Given the description of an element on the screen output the (x, y) to click on. 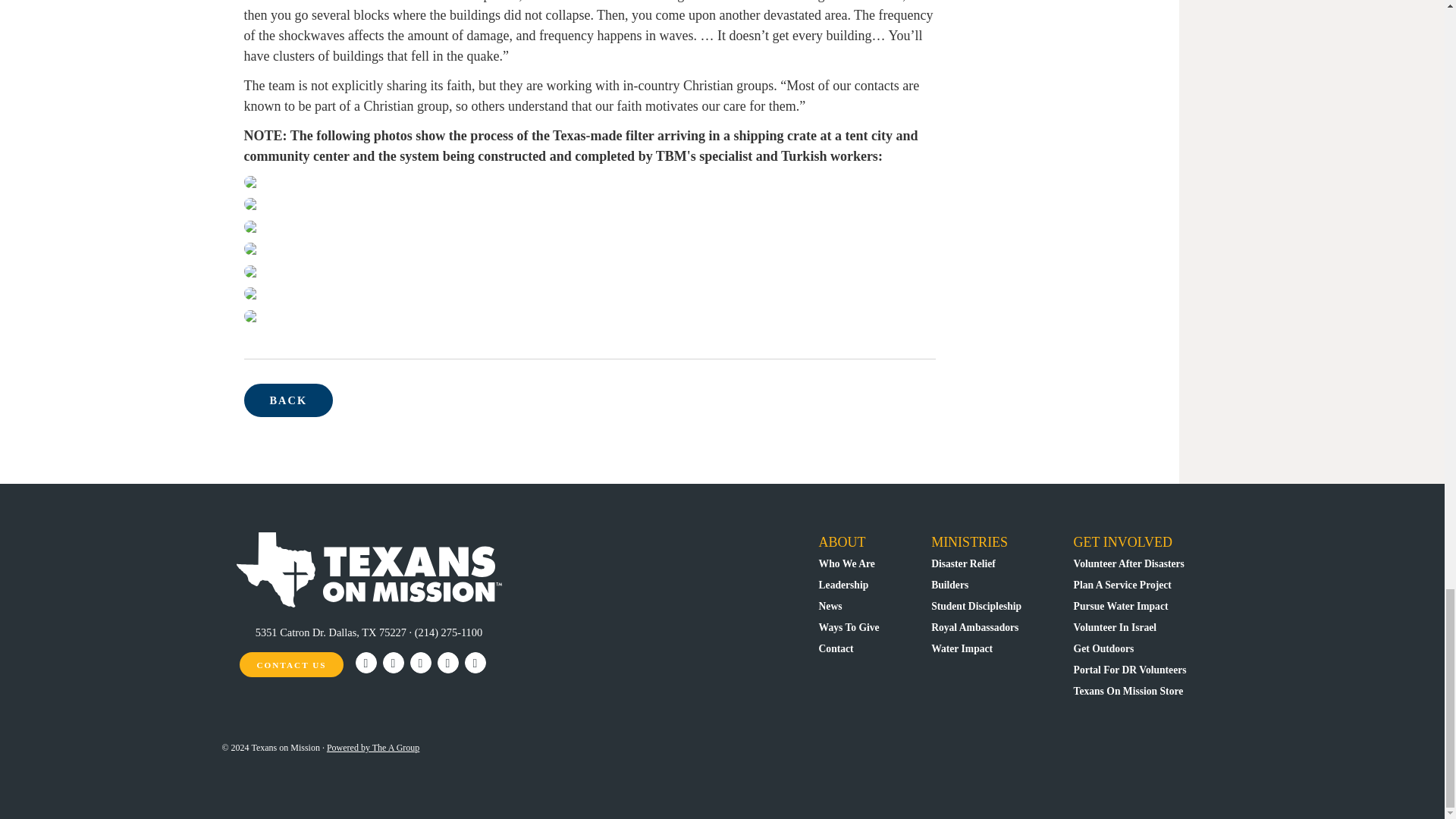
Who We Are (846, 563)
BACK (288, 400)
Disaster Relief (963, 563)
Ways To Give (848, 627)
Leadership (843, 584)
MINISTRIES (969, 541)
ABOUT (842, 541)
News (830, 605)
Contact (835, 648)
